Given the description of an element on the screen output the (x, y) to click on. 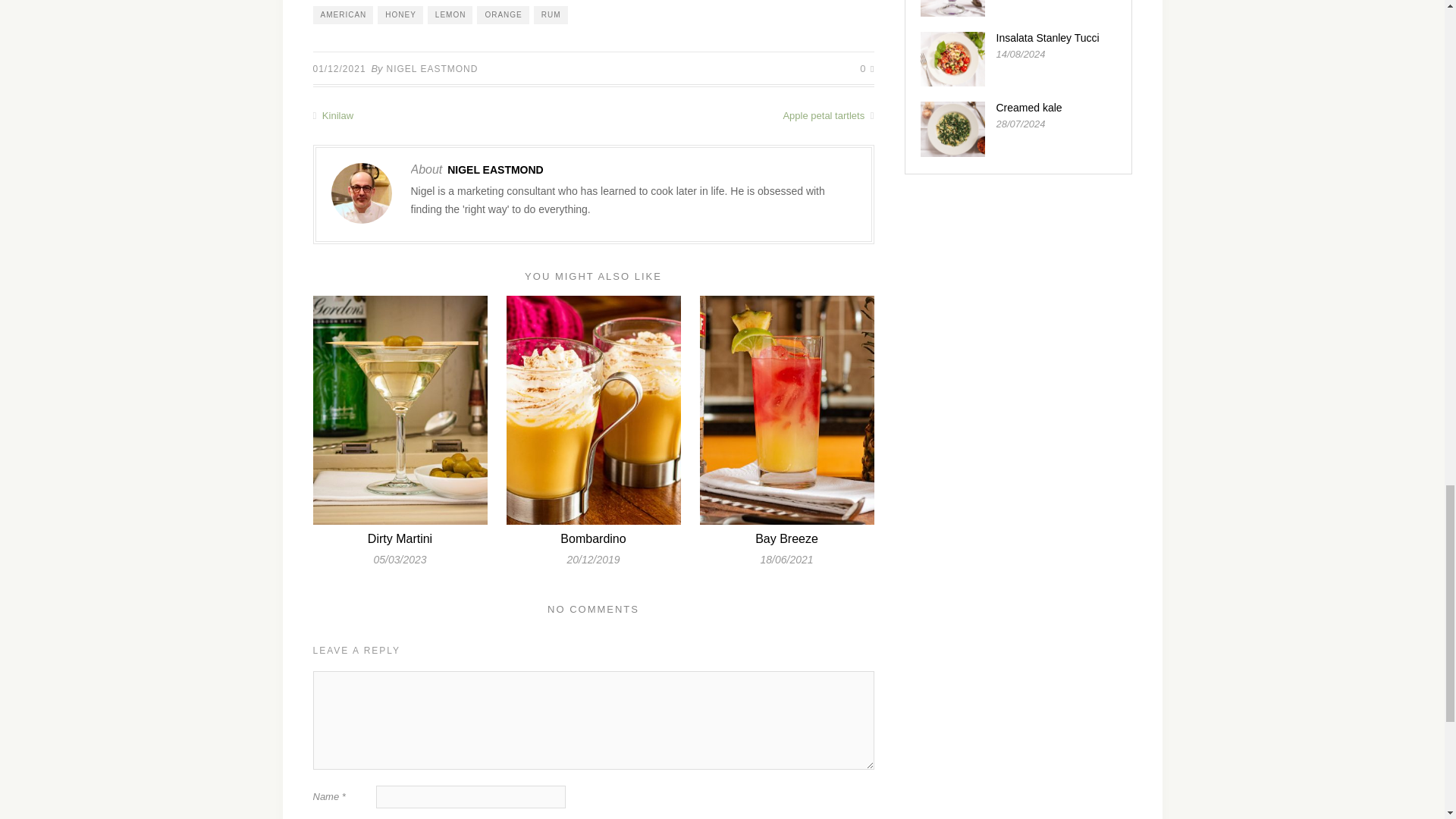
LEMON (450, 14)
Posts by Nigel Eastmond (433, 68)
Posts by Nigel Eastmond (494, 169)
AMERICAN (342, 14)
HONEY (400, 14)
ORANGE (502, 14)
